Given the description of an element on the screen output the (x, y) to click on. 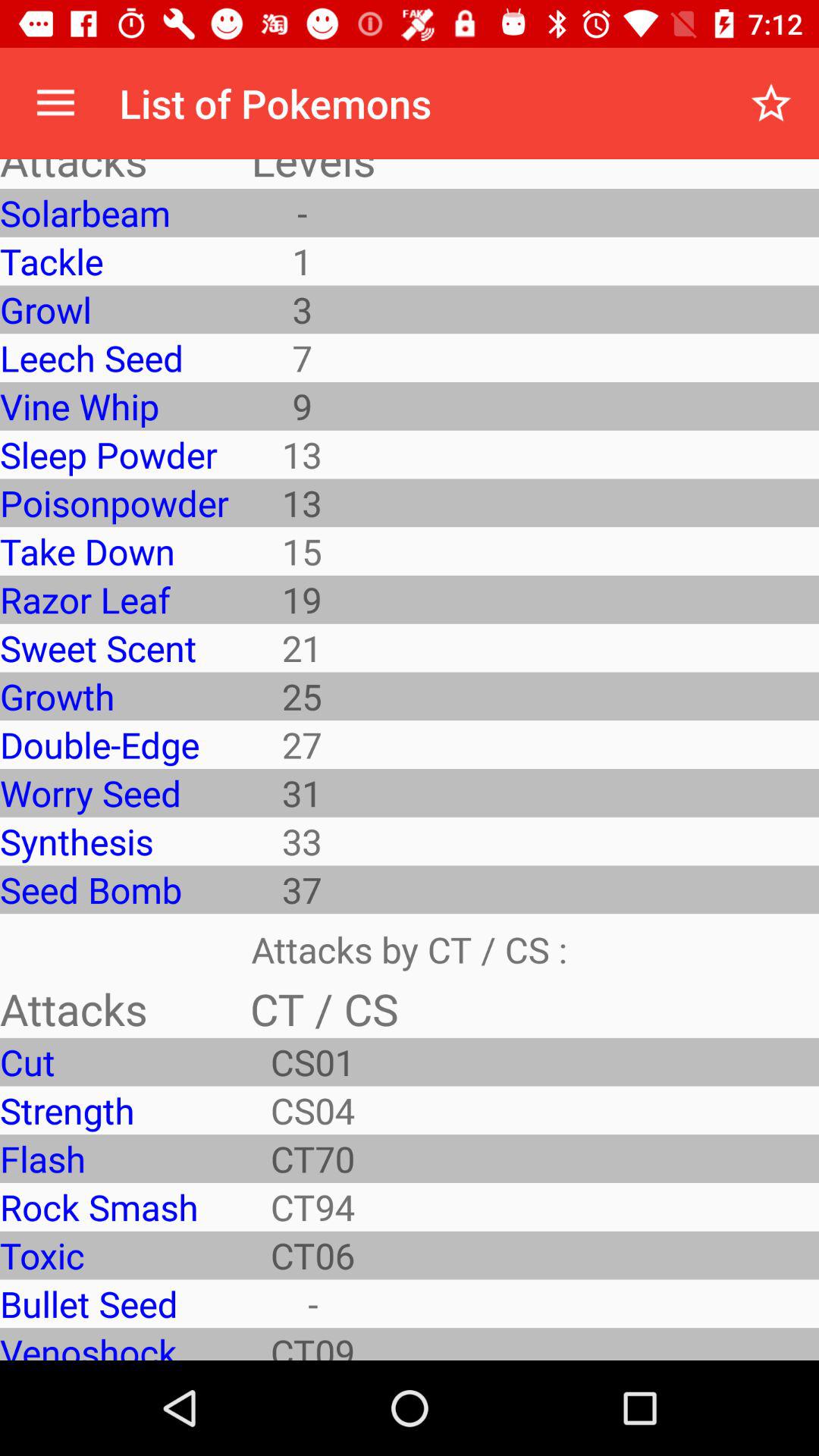
launch the icon to the left of ct94 (113, 1255)
